Given the description of an element on the screen output the (x, y) to click on. 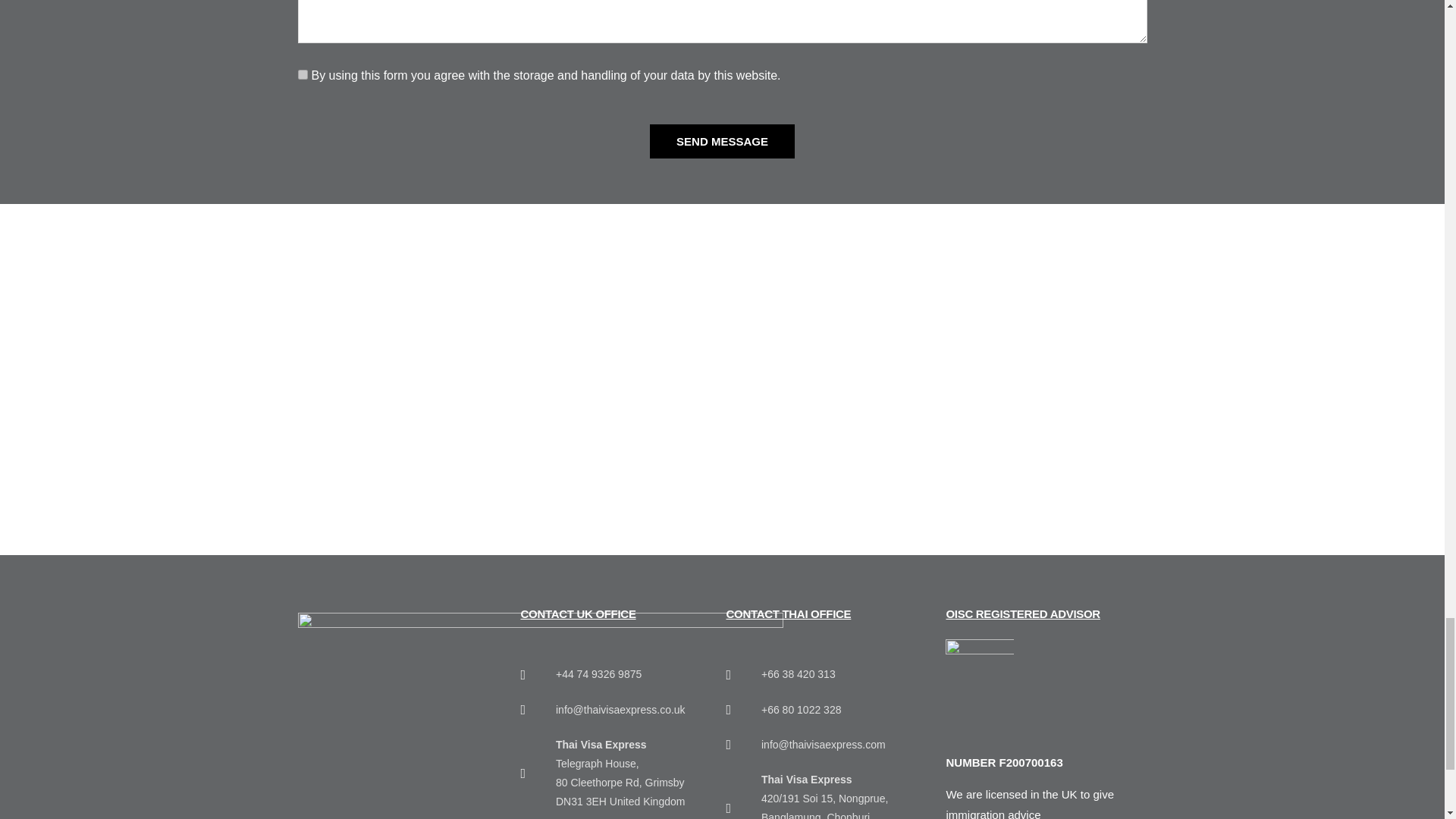
on (302, 74)
